Given the description of an element on the screen output the (x, y) to click on. 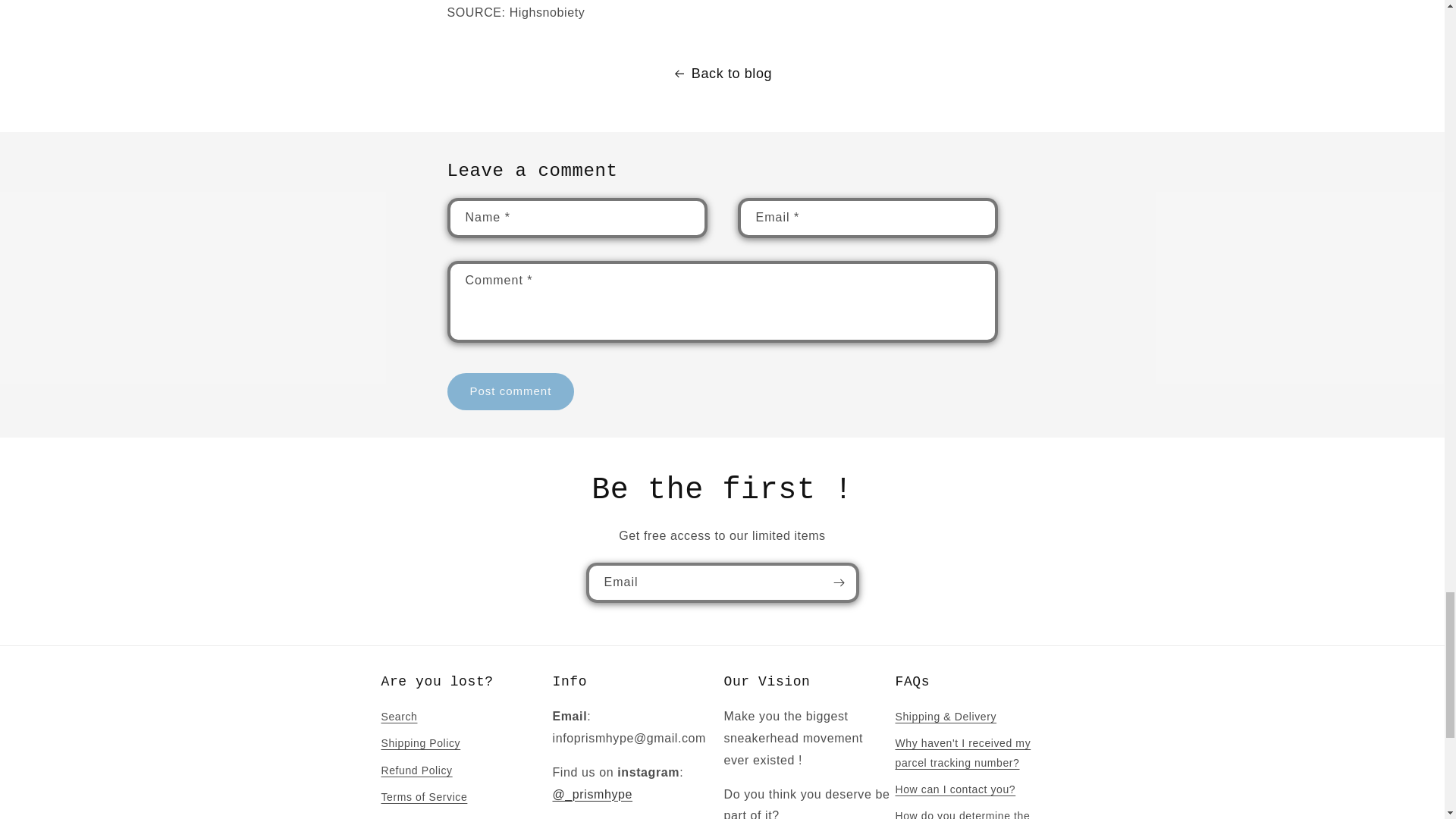
Post comment (510, 391)
Search (398, 718)
Terms of Service (423, 796)
Refund policy (415, 814)
Post comment (510, 391)
Refund Policy (415, 770)
Shipping Policy (420, 743)
